Given the description of an element on the screen output the (x, y) to click on. 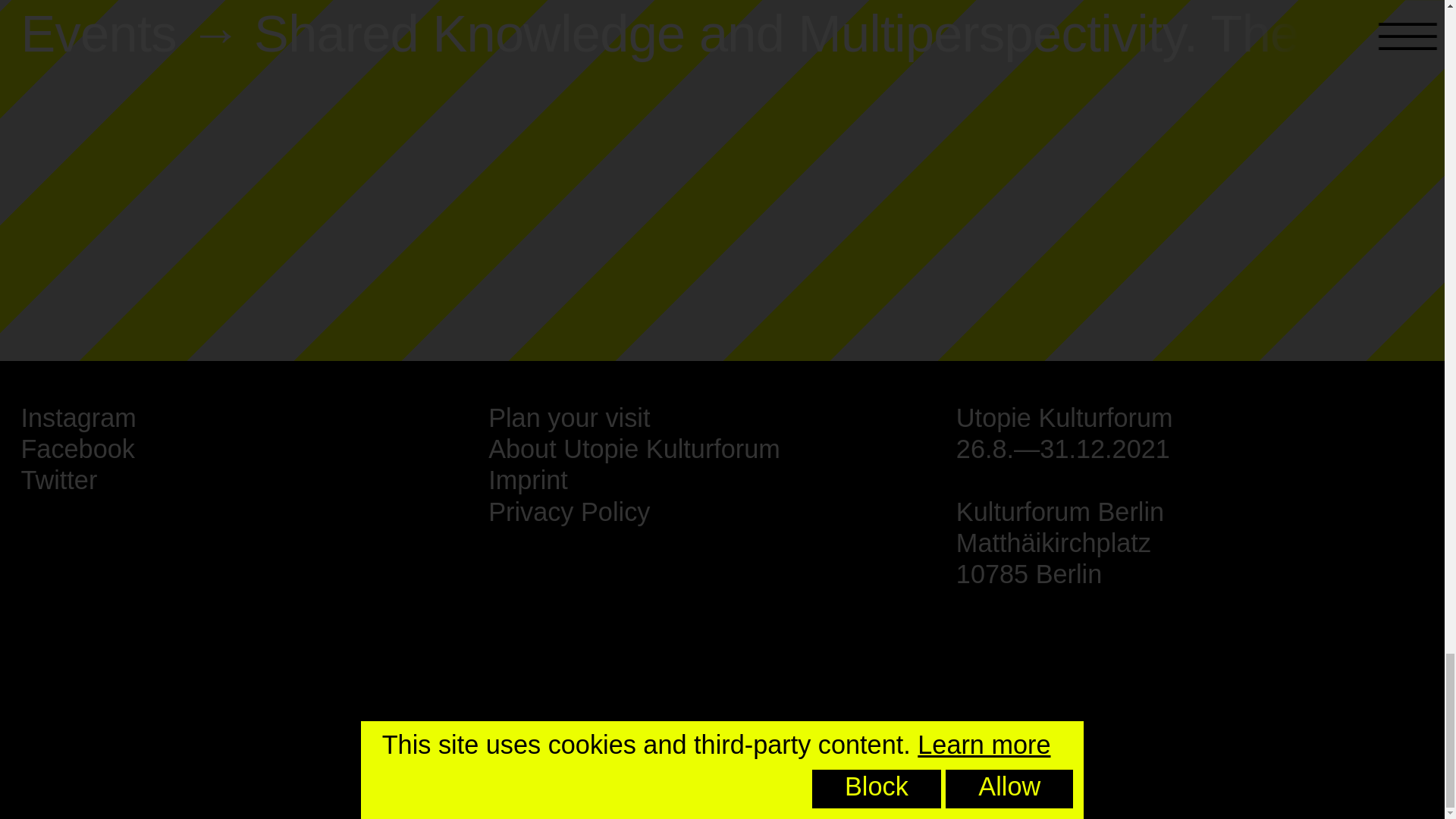
Facebook (76, 448)
Imprint (527, 480)
Instagram (77, 417)
Privacy Policy (568, 511)
About Utopie Kulturforum (633, 448)
Plan your visit (568, 417)
Twitter (58, 480)
